Given the description of an element on the screen output the (x, y) to click on. 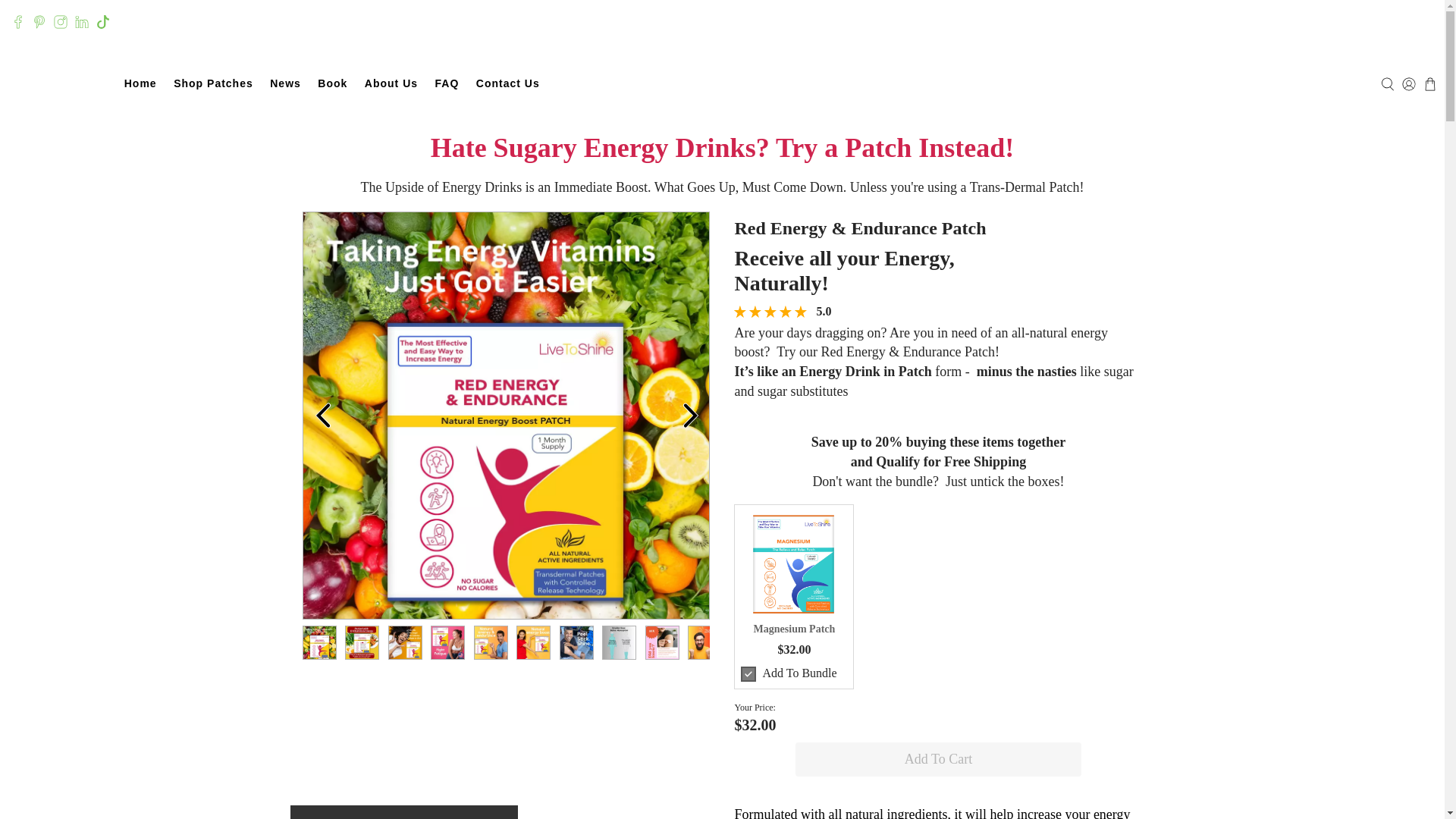
Go to the next slide (690, 415)
Book (332, 83)
FAQ (446, 83)
Shop Patches (213, 83)
LiveToShine on TikTok (103, 21)
LiveToShine on Instagram (59, 21)
Contact Us (507, 83)
LiveToShine on Pinterest (39, 21)
LiveToShine on LinkedIn (81, 21)
LiveToShine (61, 84)
